Given the description of an element on the screen output the (x, y) to click on. 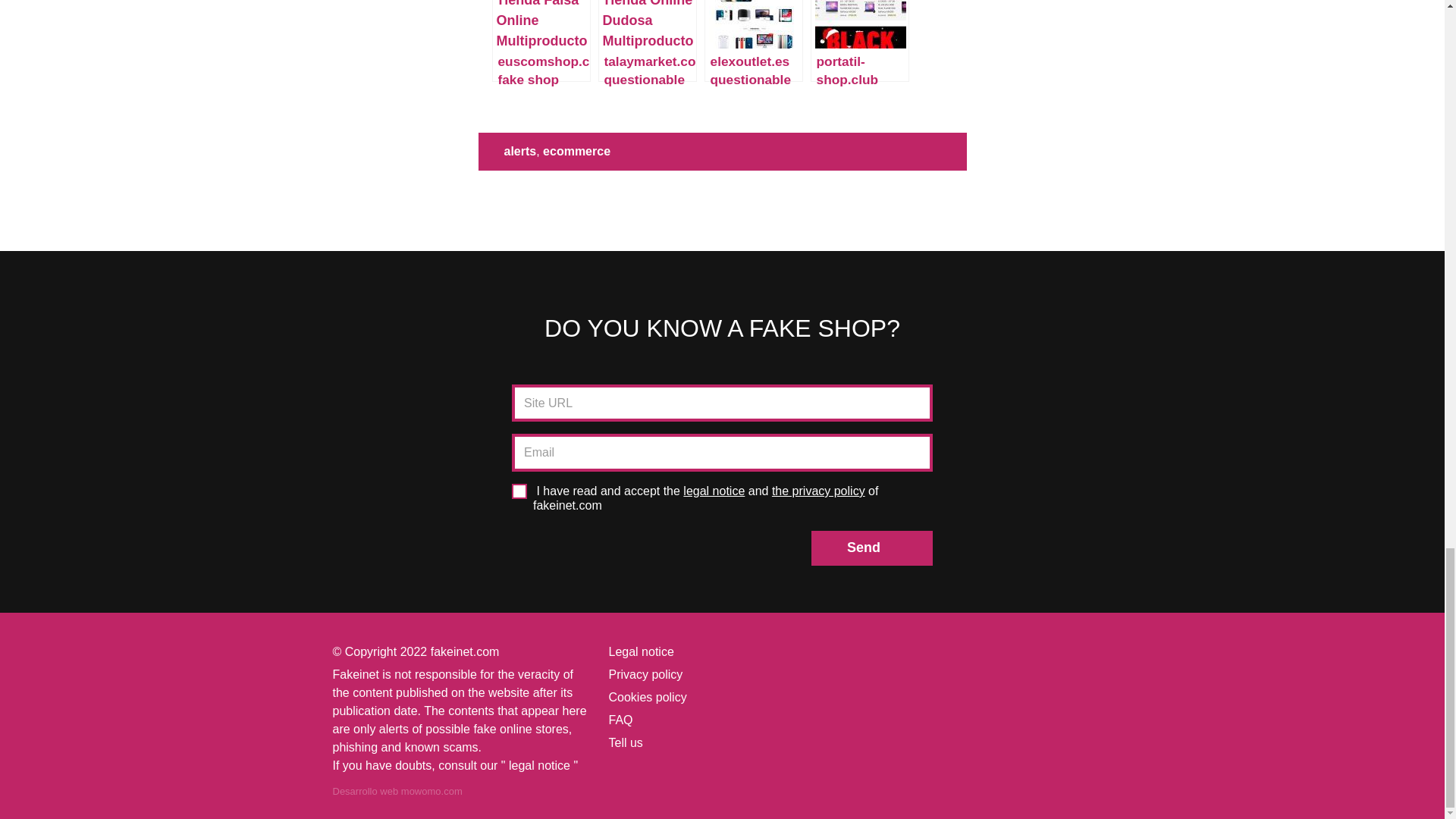
Tell us (625, 742)
talaymarket.com questionable online store multiproduct (647, 40)
portatil-shop.club questionable online store Huawei laptops (859, 40)
ecommerce (576, 151)
Legal notice (640, 651)
Desarrollo web mowomo.com (396, 790)
legal notice (713, 490)
euscomshop.com fake shop multiproducts (540, 40)
legal notice (539, 765)
talaymarket.com questionable online store multiproduct (647, 40)
